Given the description of an element on the screen output the (x, y) to click on. 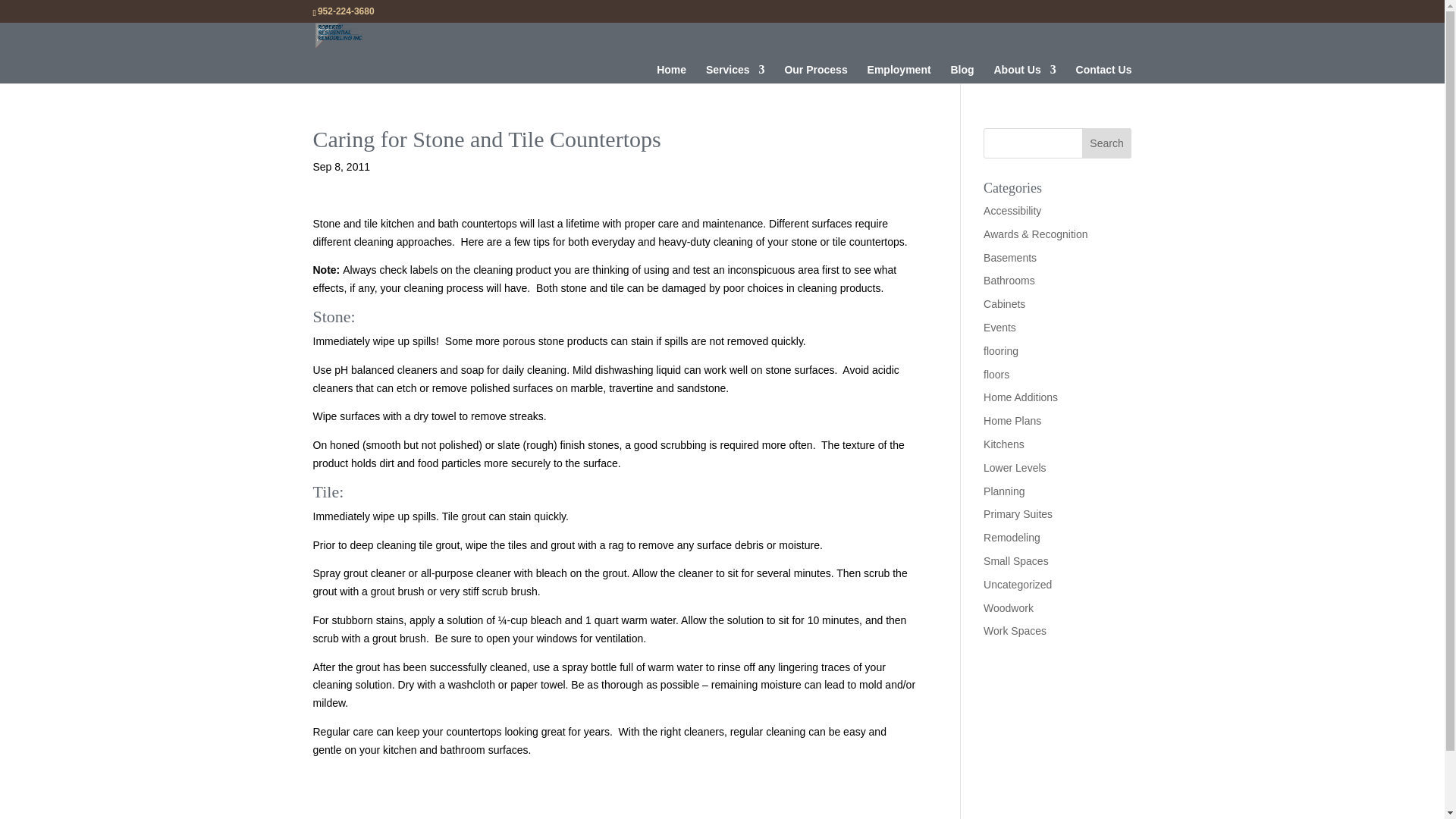
floors (996, 374)
Planning (1004, 491)
Primary Suites (1018, 513)
Our Process (815, 82)
Lower Levels (1015, 467)
Kitchens (1004, 444)
Basements (1010, 257)
Home Additions (1021, 397)
Employment (899, 82)
Search (1106, 142)
